Given the description of an element on the screen output the (x, y) to click on. 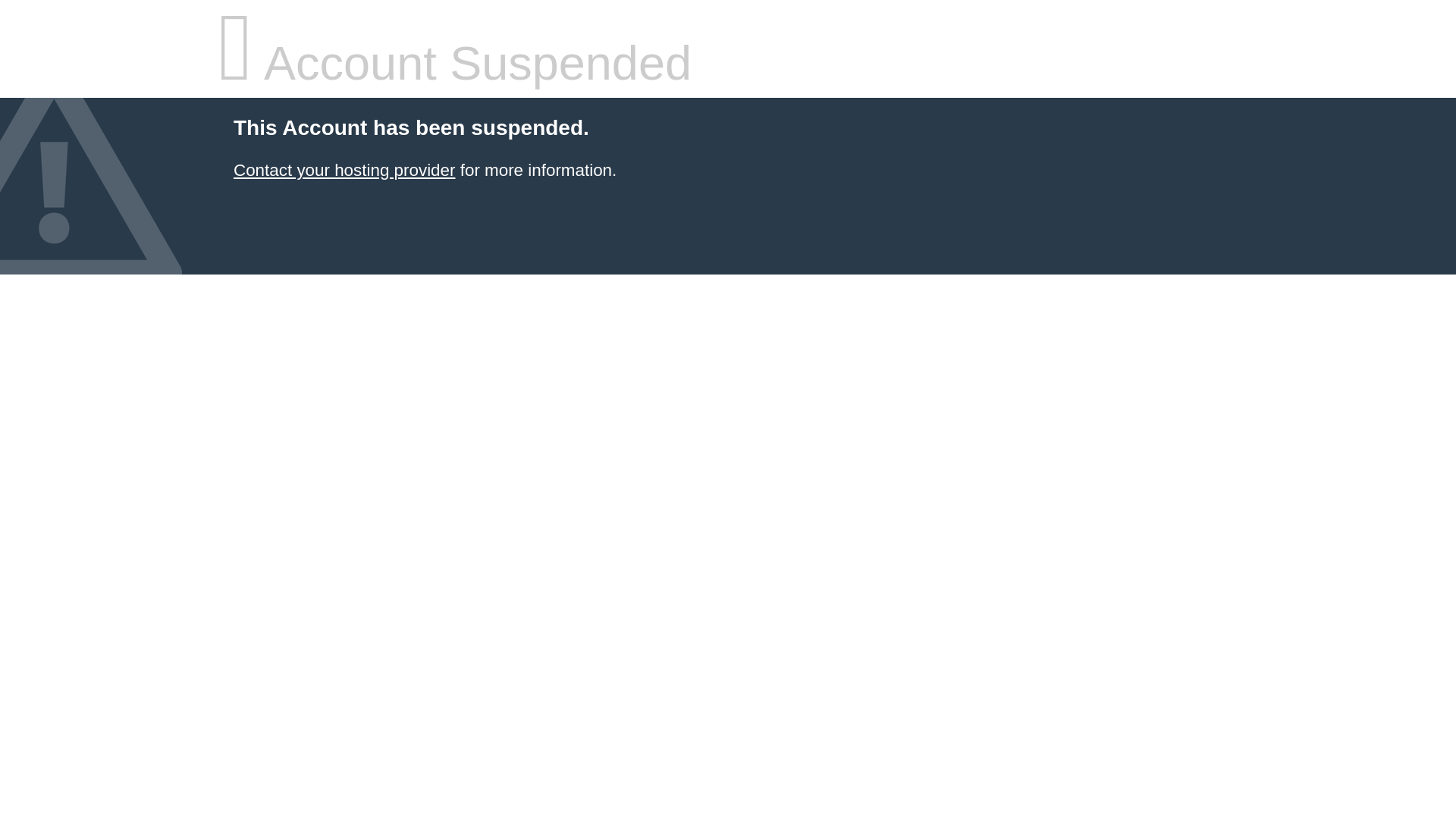
Contact your hosting provider (343, 169)
